Given the description of an element on the screen output the (x, y) to click on. 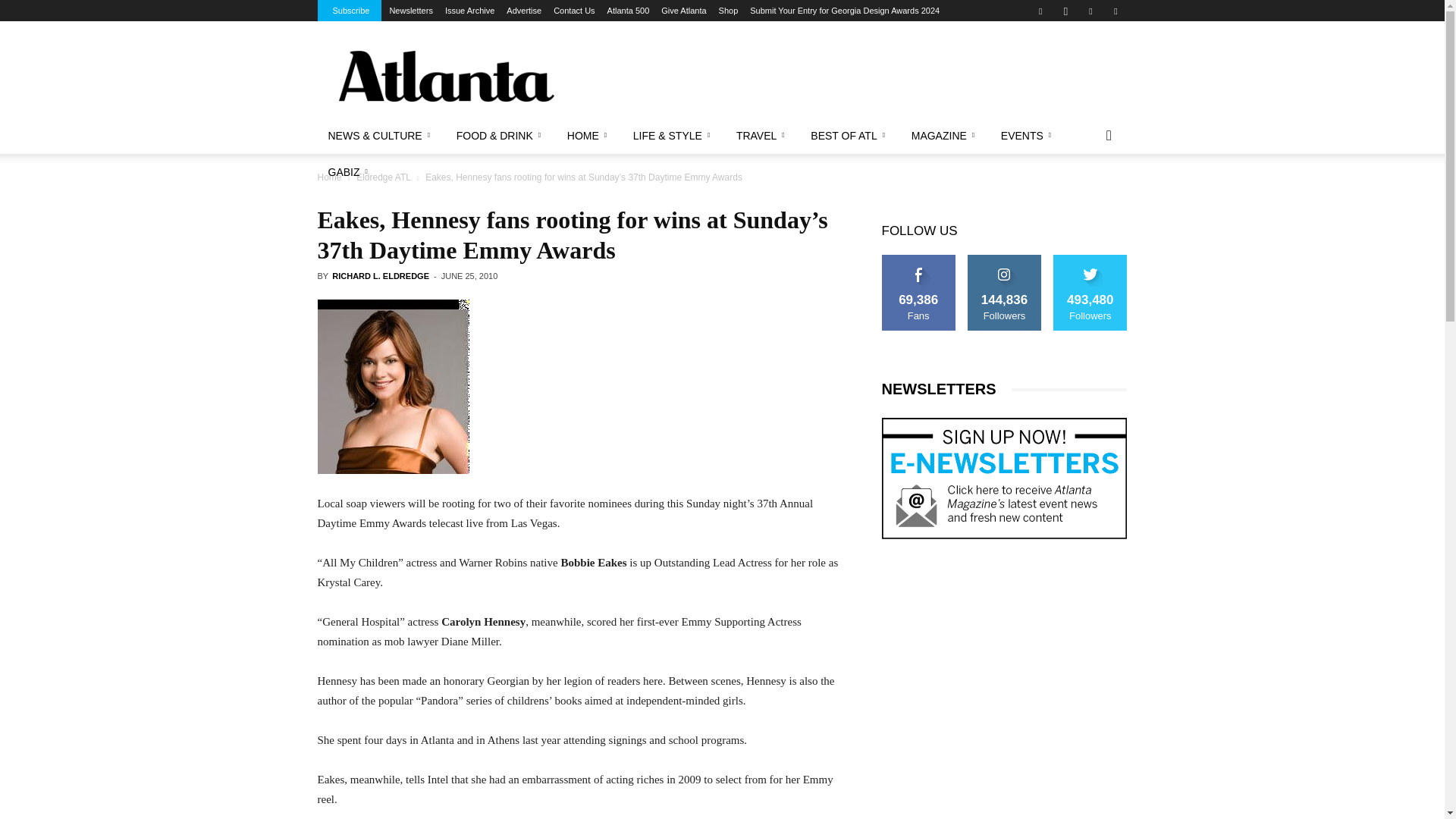
Posts by Richard L. Eldredge (380, 275)
Twitter (1114, 10)
Facebook (1040, 10)
Atlanta Magazine (445, 75)
View all posts in Eldredge ATL (383, 176)
Linkedin (1090, 10)
Instagram (1065, 10)
